Given the description of an element on the screen output the (x, y) to click on. 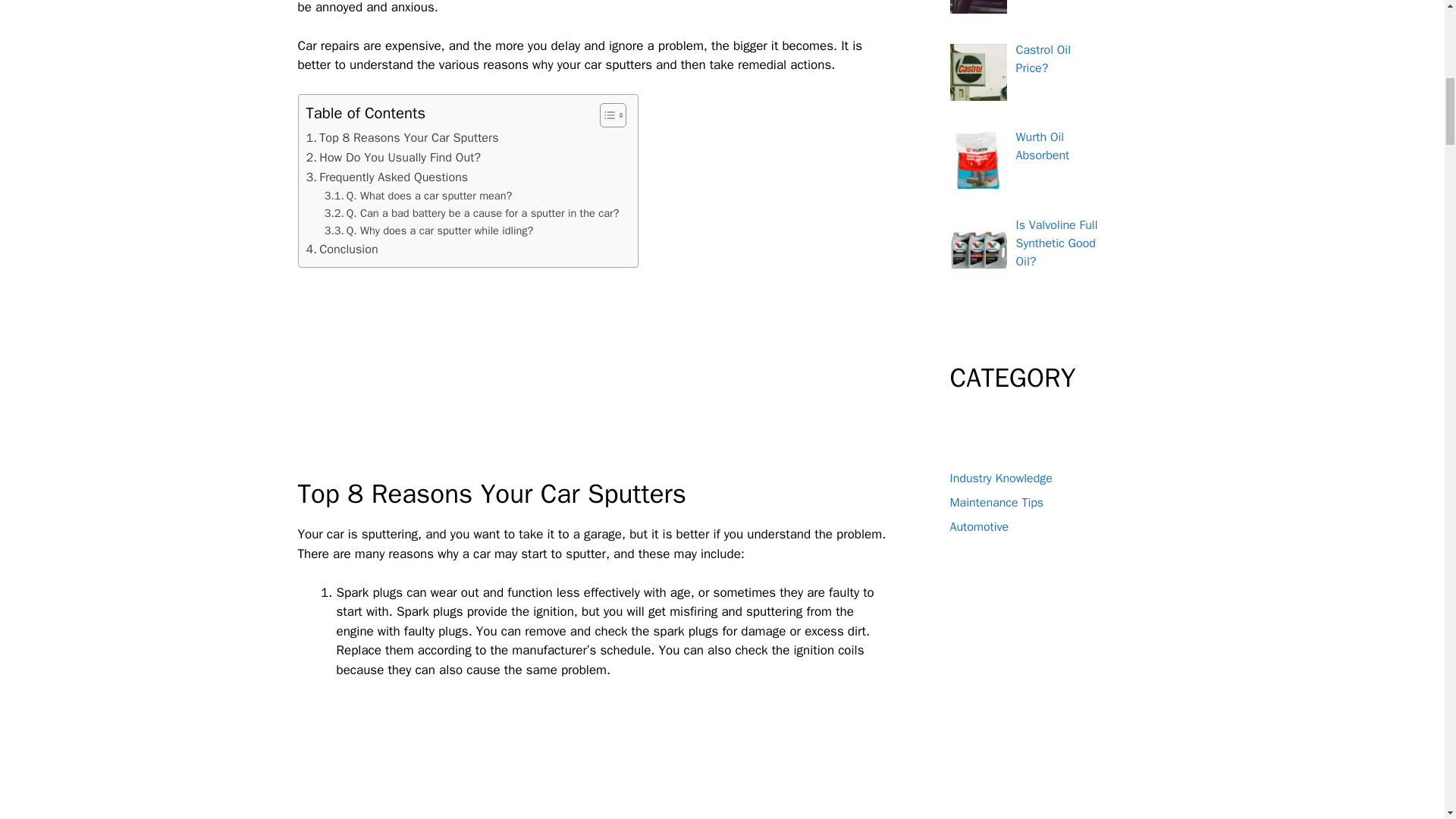
Q. What does a car sputter mean? (418, 195)
How Do You Usually Find Out? (393, 157)
Frequently Asked Questions (386, 177)
Conclusion (341, 249)
Top 8 Reasons Your Car Sputters (402, 137)
